Given the description of an element on the screen output the (x, y) to click on. 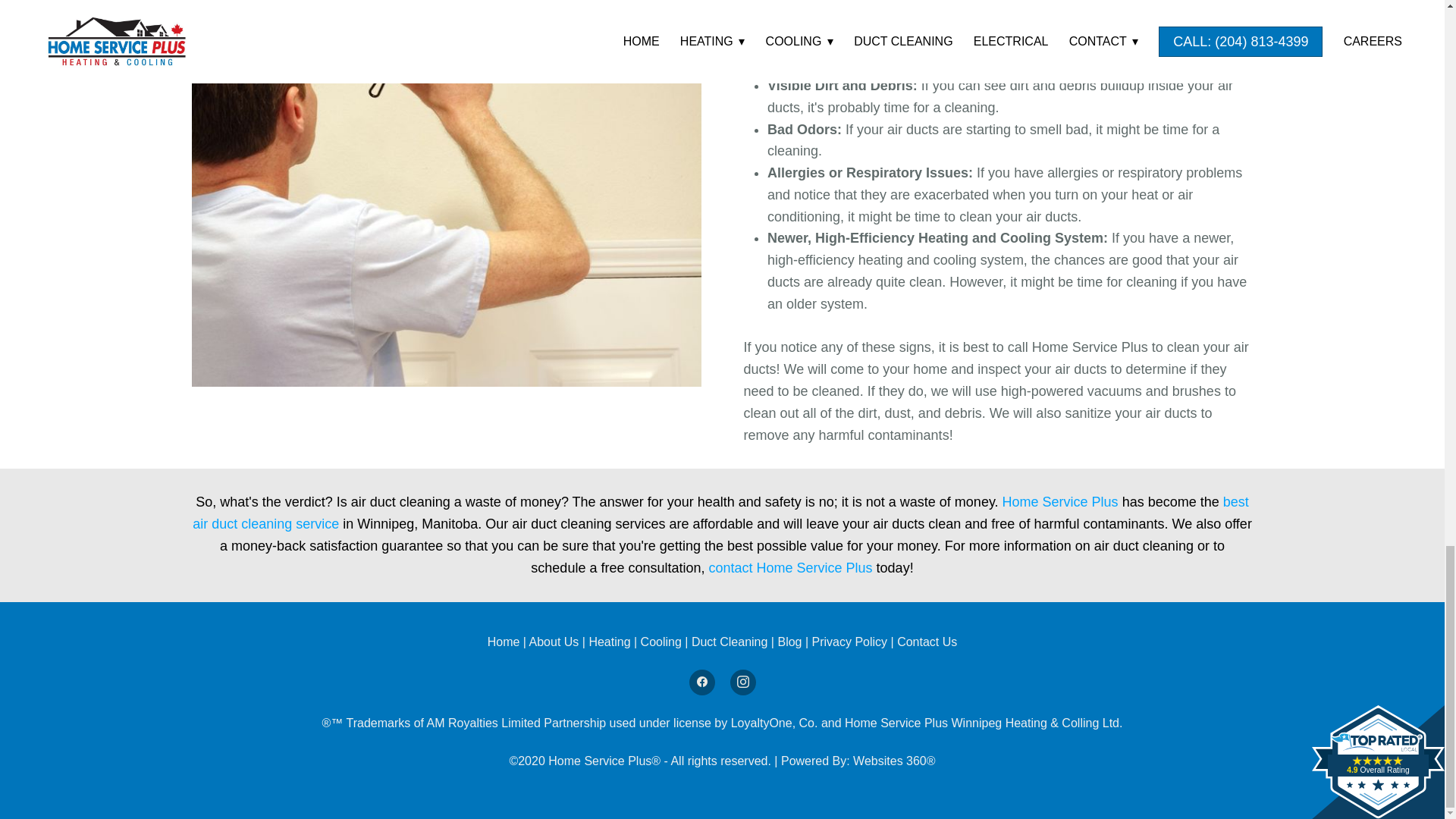
Contact Us (926, 641)
Blog (791, 641)
Home (504, 641)
contact Home Service Plus (791, 567)
Home Service Plus (1060, 501)
About Us (554, 641)
Cooling (662, 641)
best air duct cleaning service (720, 512)
Heating (610, 641)
Privacy Policy (850, 641)
Duct Cleaning (729, 641)
